Given the description of an element on the screen output the (x, y) to click on. 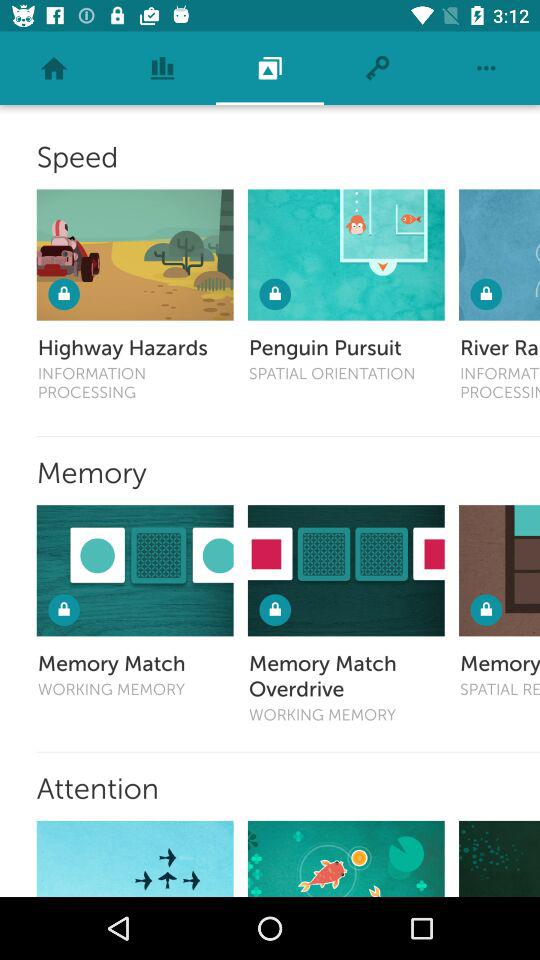
open speed game penguin persuit (345, 254)
